Given the description of an element on the screen output the (x, y) to click on. 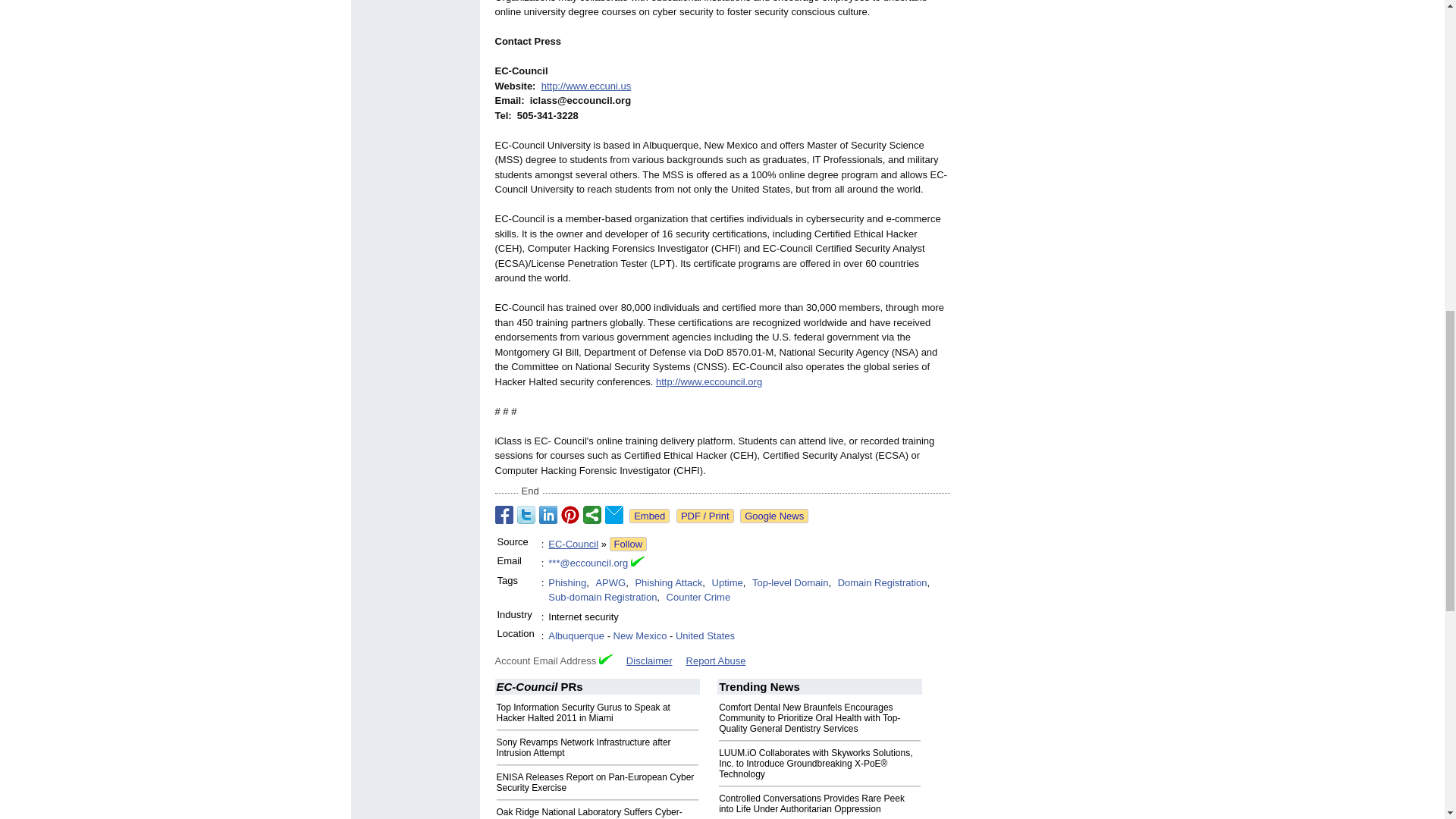
Share on Twitter (525, 515)
Embed (648, 515)
Email to a Friend (614, 515)
Share on Pinterest (569, 515)
Share on LinkedIn (547, 515)
Share on Facebook (503, 515)
Email Verified (637, 563)
Embed this press release in your website! (648, 515)
See or print the PDF version! (705, 515)
